Given the description of an element on the screen output the (x, y) to click on. 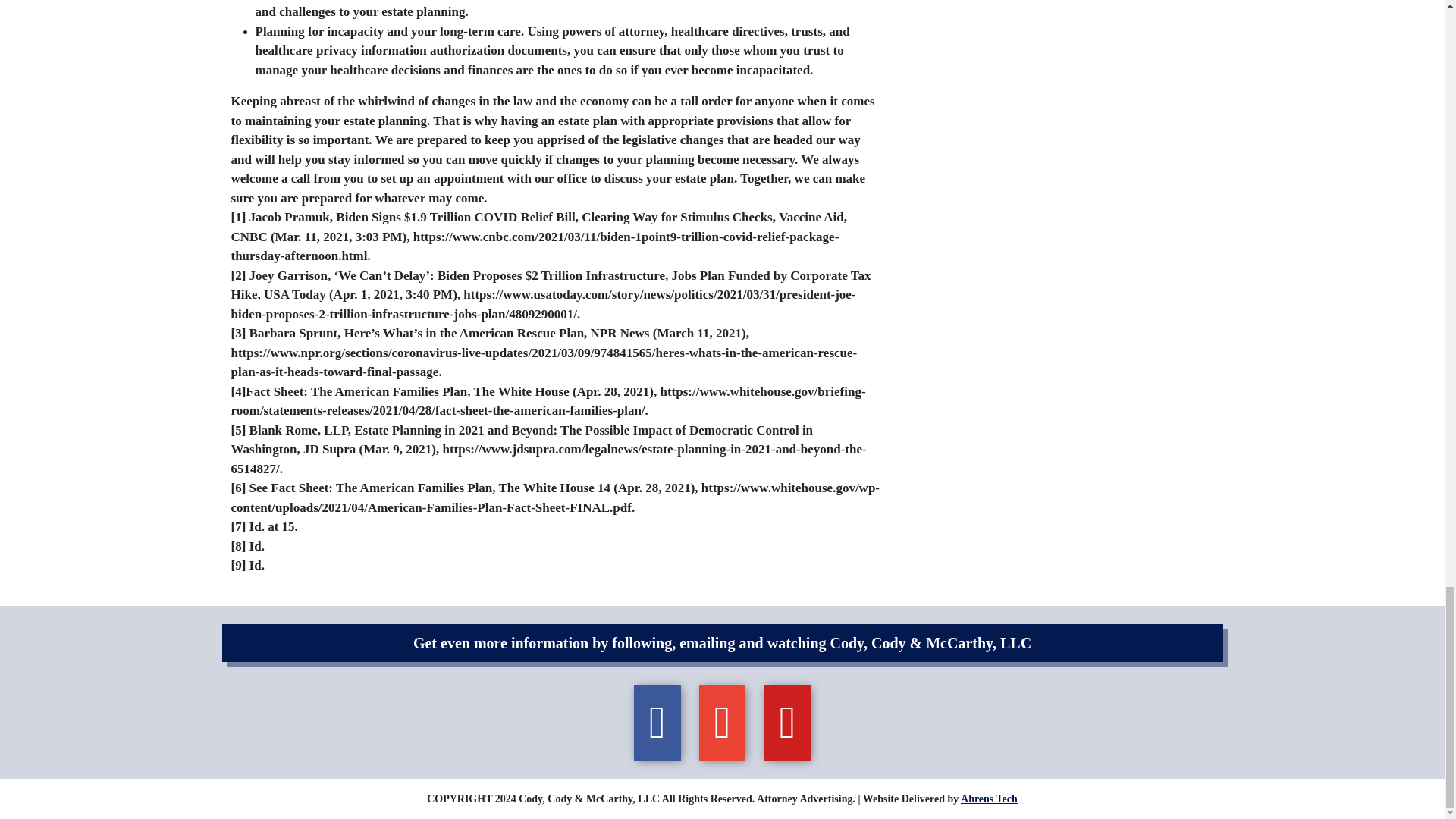
Ahrens Tech (988, 798)
